Given the description of an element on the screen output the (x, y) to click on. 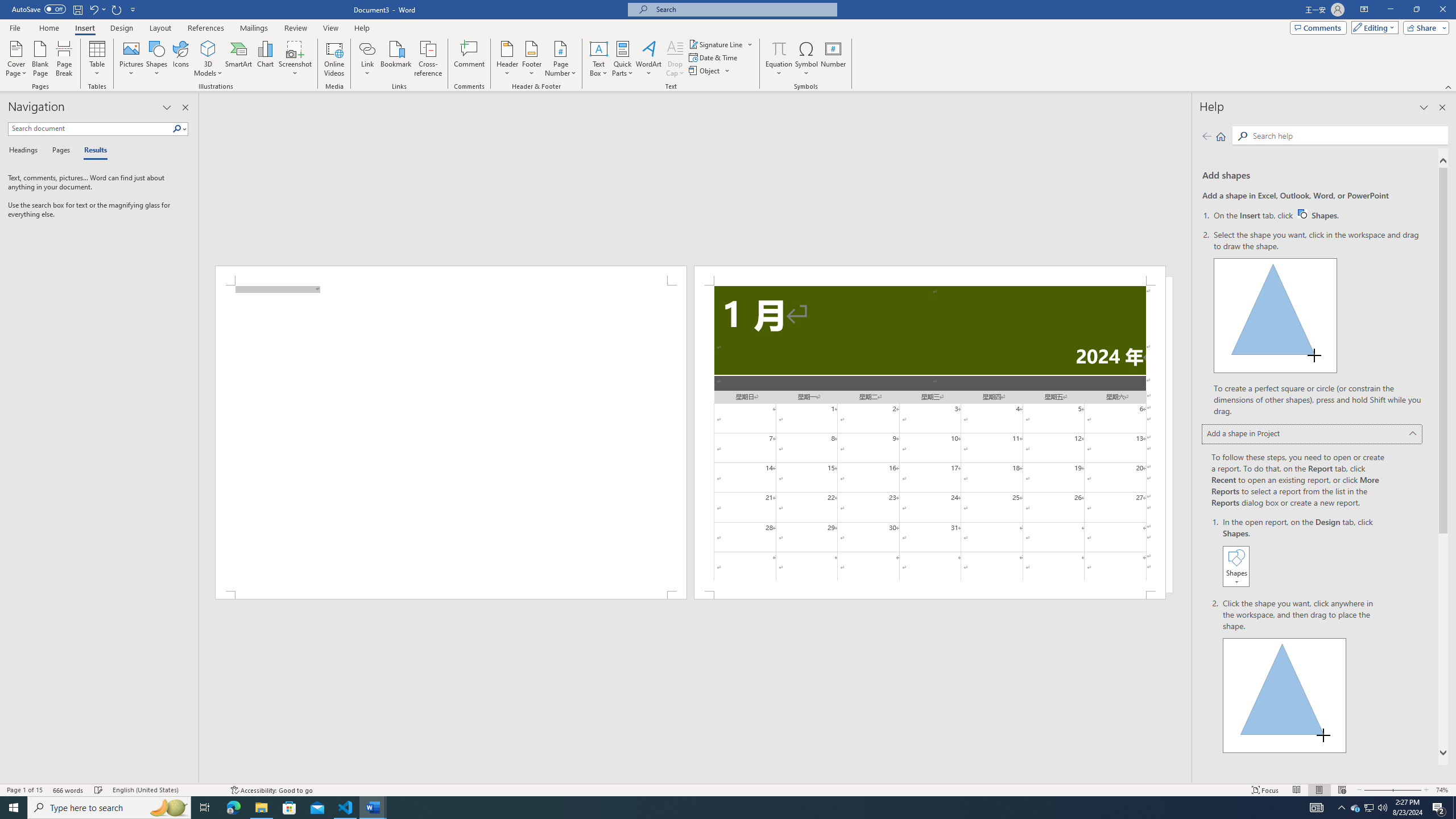
Page Number (560, 58)
Drop Cap (674, 58)
Footer (531, 58)
Online Videos... (333, 58)
Signature Line (721, 44)
In the open report, on the Design tab, click Shapes. (1304, 552)
Date & Time... (714, 56)
